Given the description of an element on the screen output the (x, y) to click on. 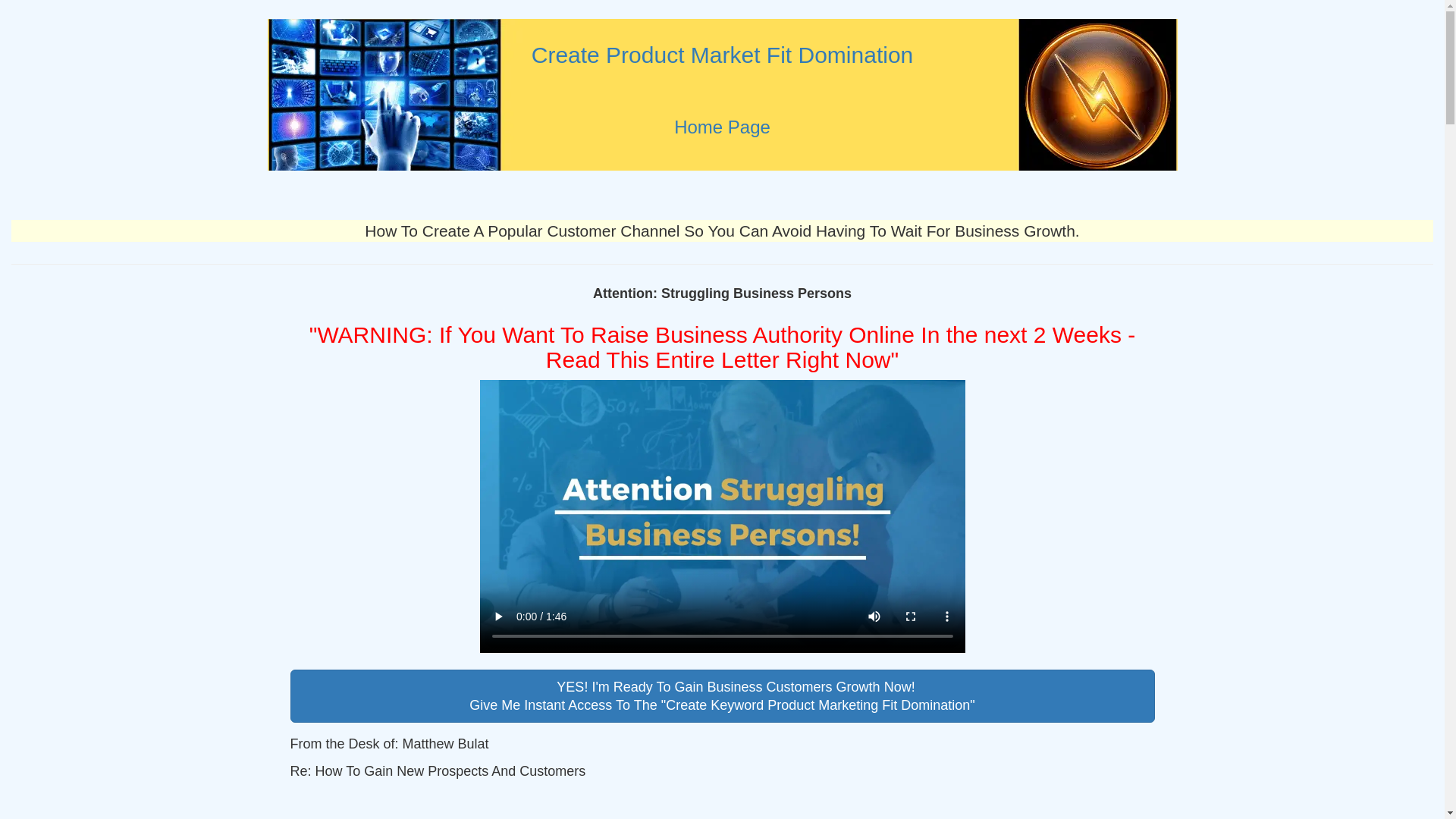
Home Page Element type: text (722, 126)
Create Product Market Fit Domination Element type: text (722, 54)
